Given the description of an element on the screen output the (x, y) to click on. 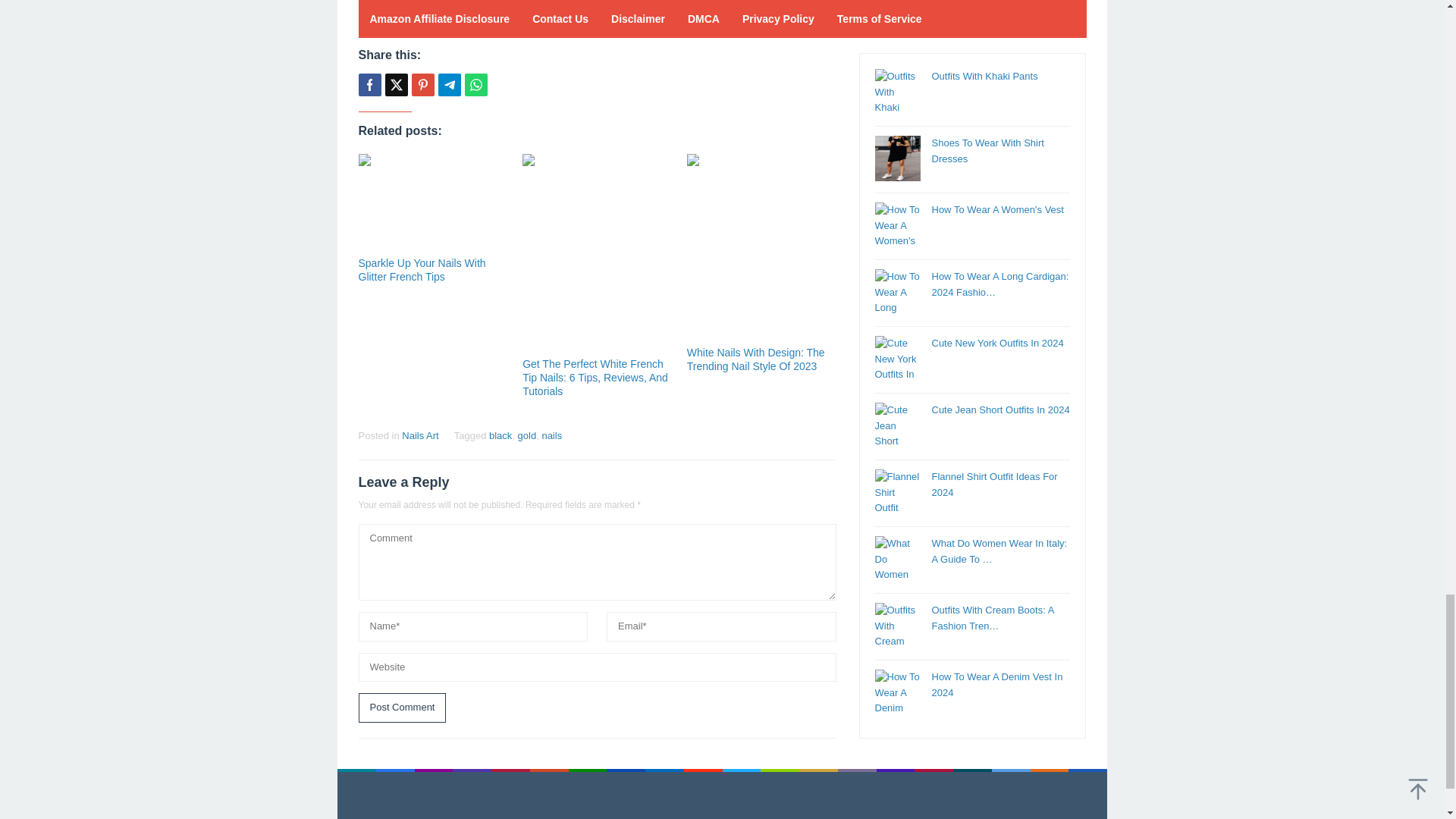
Whatsapp (475, 84)
nails (551, 435)
Permalink to: Sparkle Up Your Nails With Glitter French Tips (421, 269)
Telegram Share (449, 84)
White Nails With Design: The Trending Nail Style Of 2023 (756, 359)
black (500, 435)
Permalink to: Sparkle Up Your Nails With Glitter French Tips (432, 202)
Nails Art (419, 435)
gold (527, 435)
Pin this (421, 84)
Sparkle Up Your Nails With Glitter French Tips (421, 269)
Tweet this (396, 84)
Share this (369, 84)
